Given the description of an element on the screen output the (x, y) to click on. 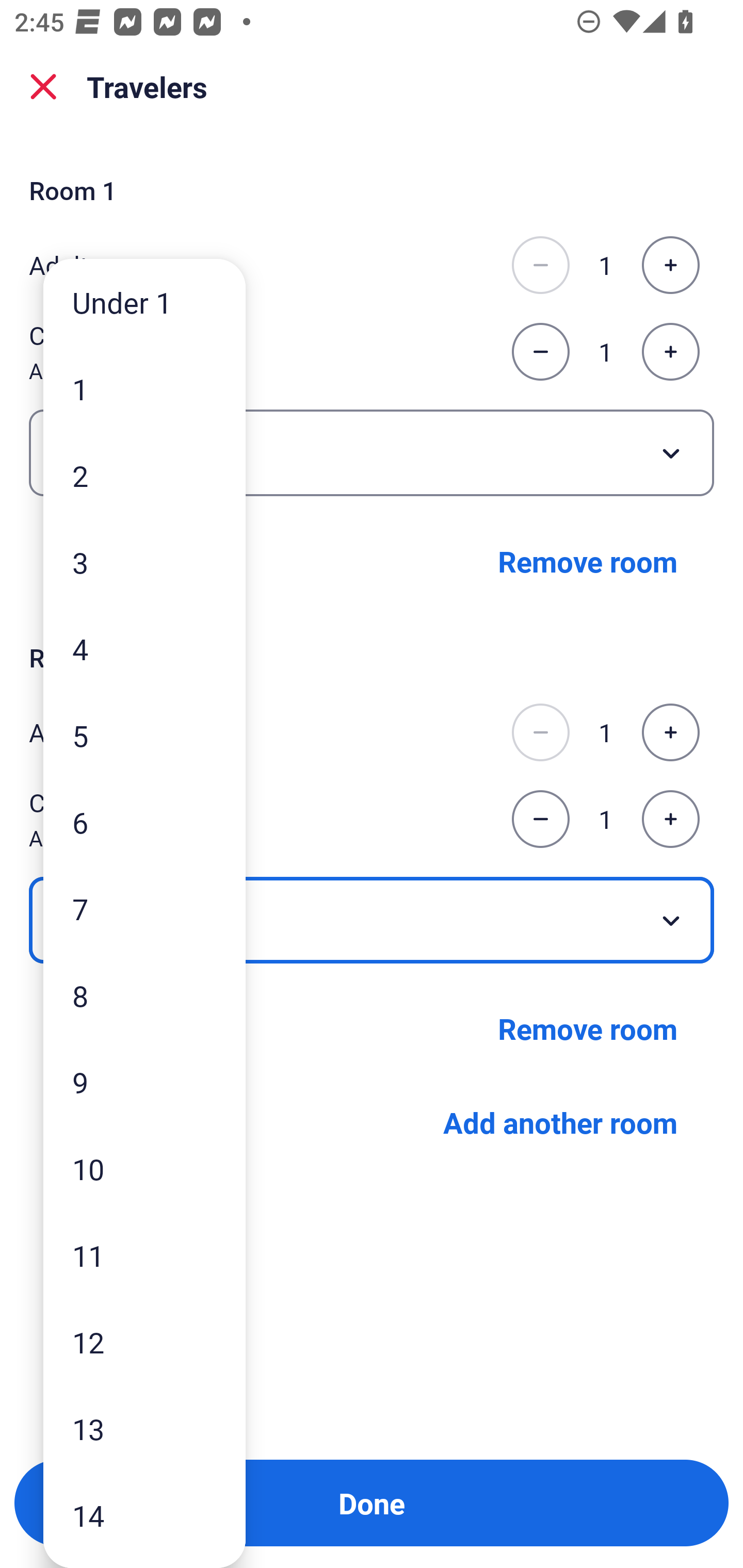
Under 1 (144, 301)
1 (144, 388)
2 (144, 475)
3 (144, 562)
4 (144, 648)
5 (144, 735)
6 (144, 822)
7 (144, 908)
8 (144, 994)
9 (144, 1081)
10 (144, 1168)
11 (144, 1255)
12 (144, 1342)
13 (144, 1429)
14 (144, 1515)
